Given the description of an element on the screen output the (x, y) to click on. 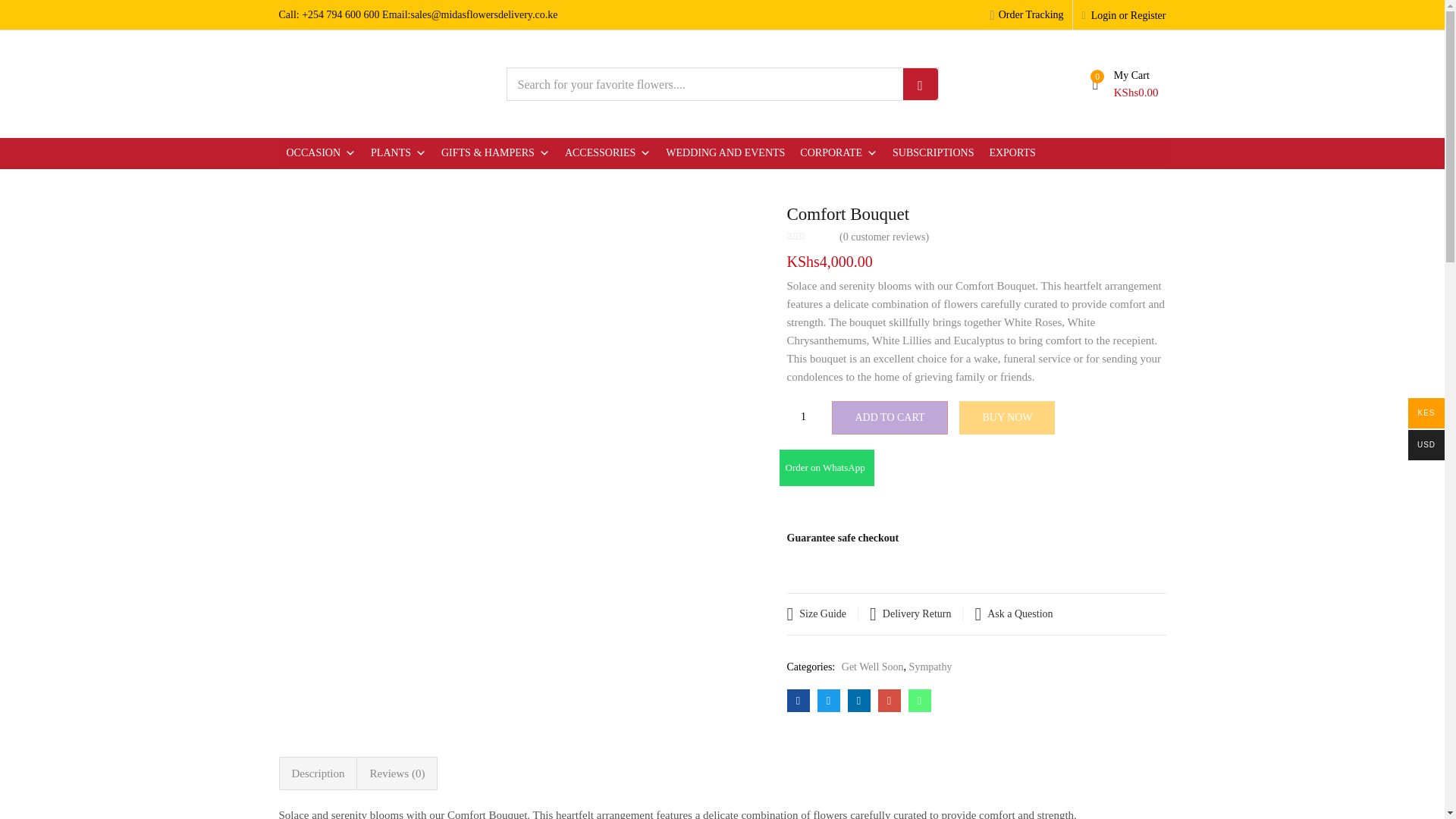
Login or Register (1123, 14)
Comfort Bouquet (798, 700)
Comfort Bouquet (889, 700)
View your shopping cart (1129, 83)
Comfort Bouquet (919, 700)
1 (804, 417)
